Given the description of an element on the screen output the (x, y) to click on. 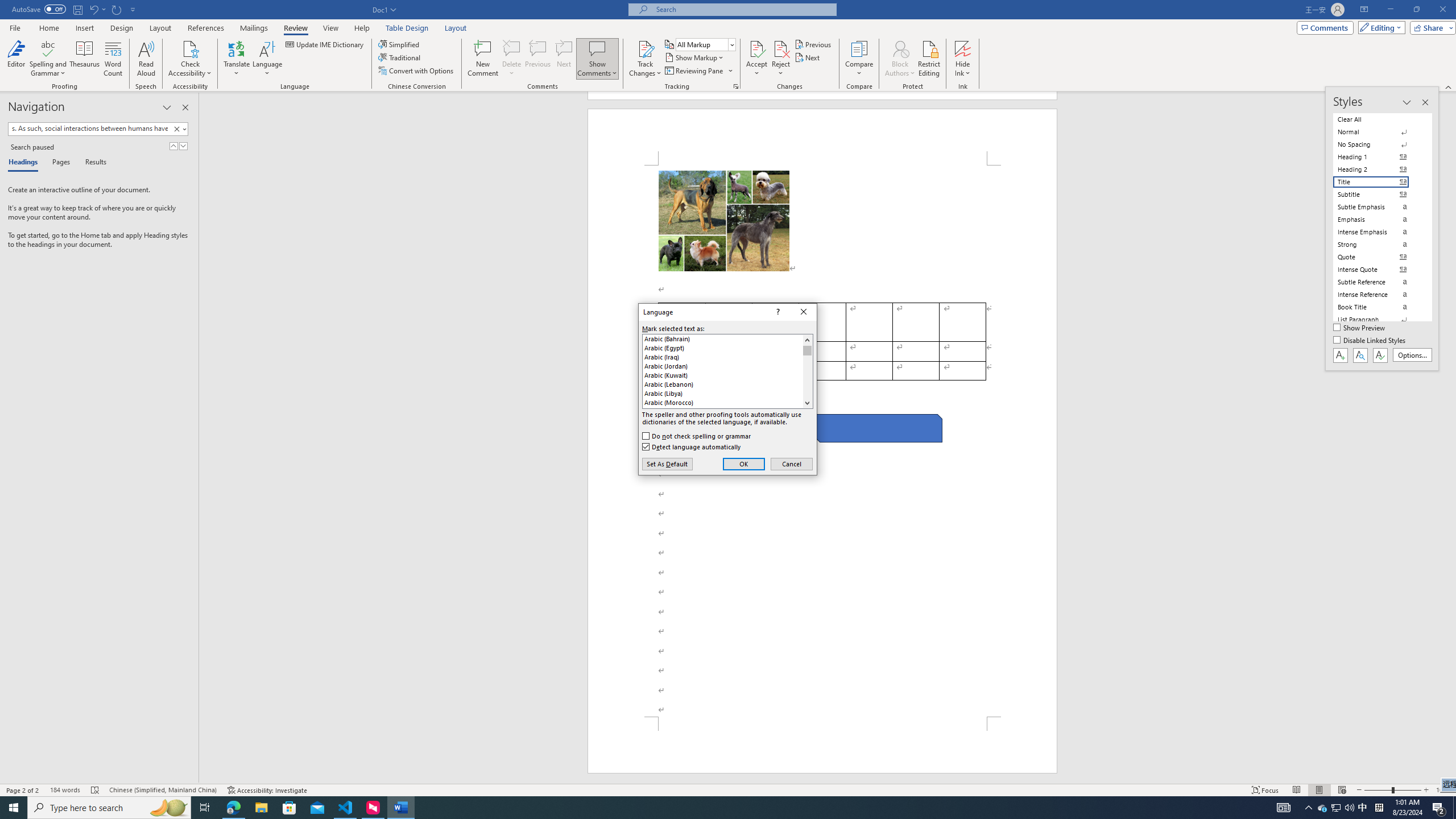
Reject and Move to Next (780, 48)
Change Tracking Options... (735, 85)
Delete (511, 58)
Show Markup (695, 56)
Zoom 104% (1443, 790)
